Given the description of an element on the screen output the (x, y) to click on. 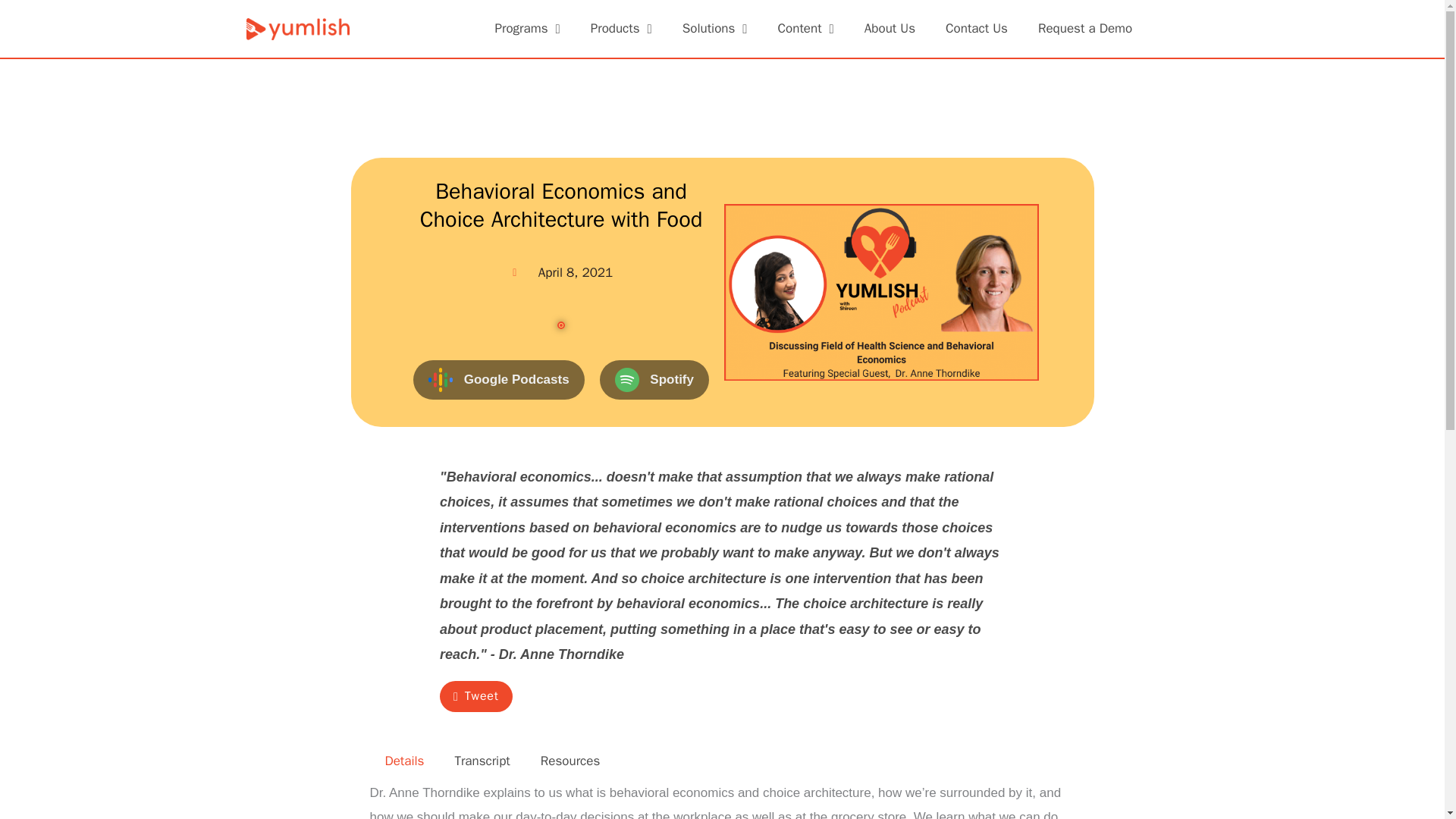
About Us (889, 28)
Google Podcasts (499, 380)
Tweet (475, 695)
Contact Us (976, 28)
Request a Demo (1085, 28)
Products (620, 28)
Content (805, 28)
Programs (527, 28)
Spotify (654, 380)
Solutions (714, 28)
